Given the description of an element on the screen output the (x, y) to click on. 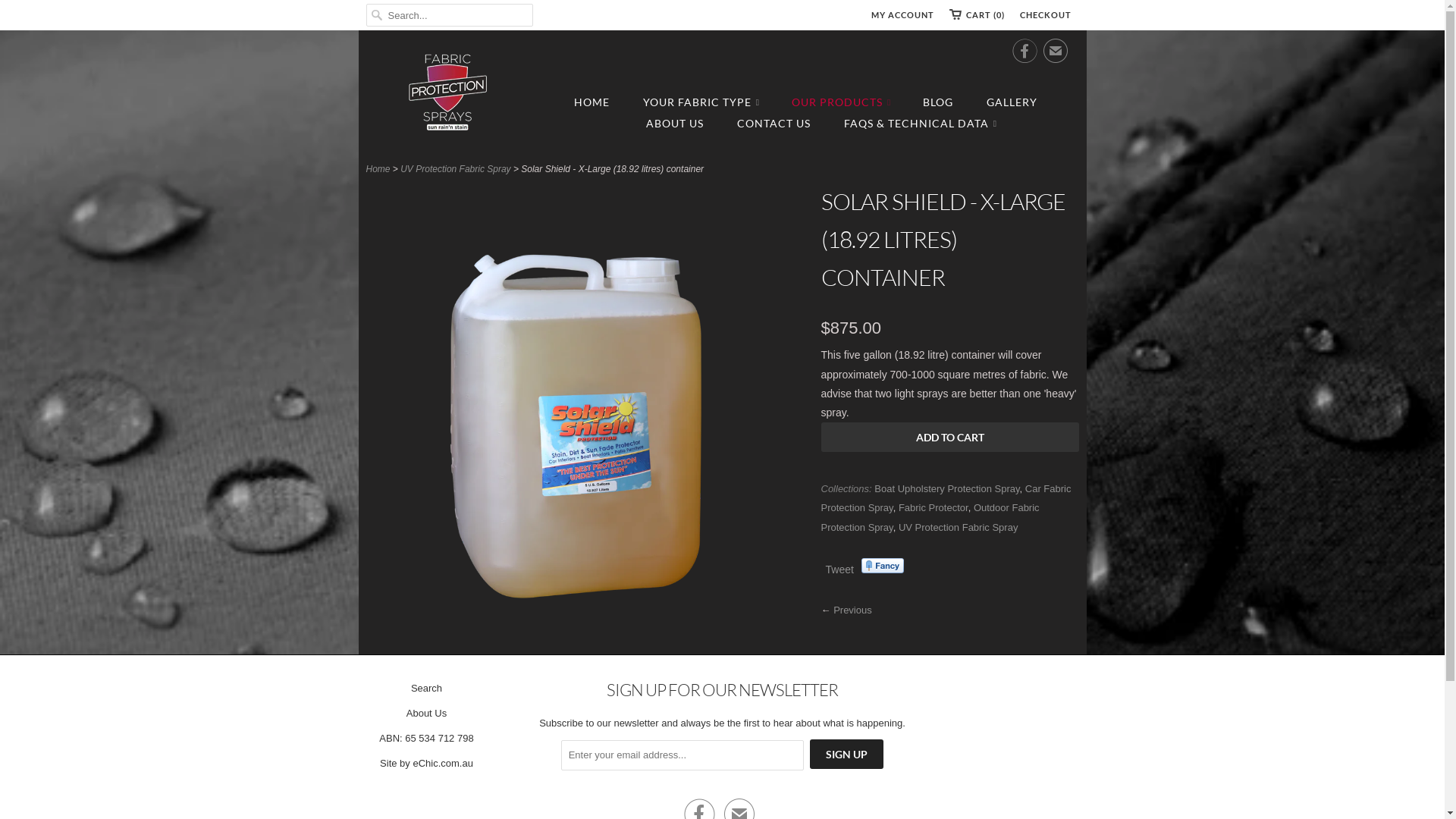
ABOUT US Element type: text (674, 123)
Outdoor Fabric Protection Spray Element type: text (929, 517)
GALLERY Element type: text (1011, 101)
MY ACCOUNT Element type: text (901, 14)
HOME Element type: text (591, 101)
Fancy Element type: text (882, 565)
About Us Element type: text (426, 712)
Home Element type: text (377, 168)
Previous Element type: text (852, 609)
Car Fabric Protection Spray Element type: text (945, 498)
UV Protection Fabric Spray Element type: text (958, 527)
UV Protection Fabric Spray Element type: text (455, 168)
ABN: 65 534 712 798 Element type: text (426, 737)
Site by eChic.com.au Element type: text (426, 762)
Sign Up Element type: text (846, 753)
CONTACT US Element type: text (773, 123)
Tweet Element type: text (839, 569)
CHECKOUT Element type: text (1044, 14)
Add to Cart Element type: text (949, 436)
Solar Shield - X-Large (18.92 litres) container Element type: hover (585, 630)
CART (0) Element type: text (976, 14)
Boat Upholstery Protection Spray Element type: text (946, 488)
BLOG Element type: text (937, 101)
Fabric Protection Sprays Element type: hover (448, 93)
Search Element type: text (426, 687)
Fabric Protector Element type: text (933, 507)
